Given the description of an element on the screen output the (x, y) to click on. 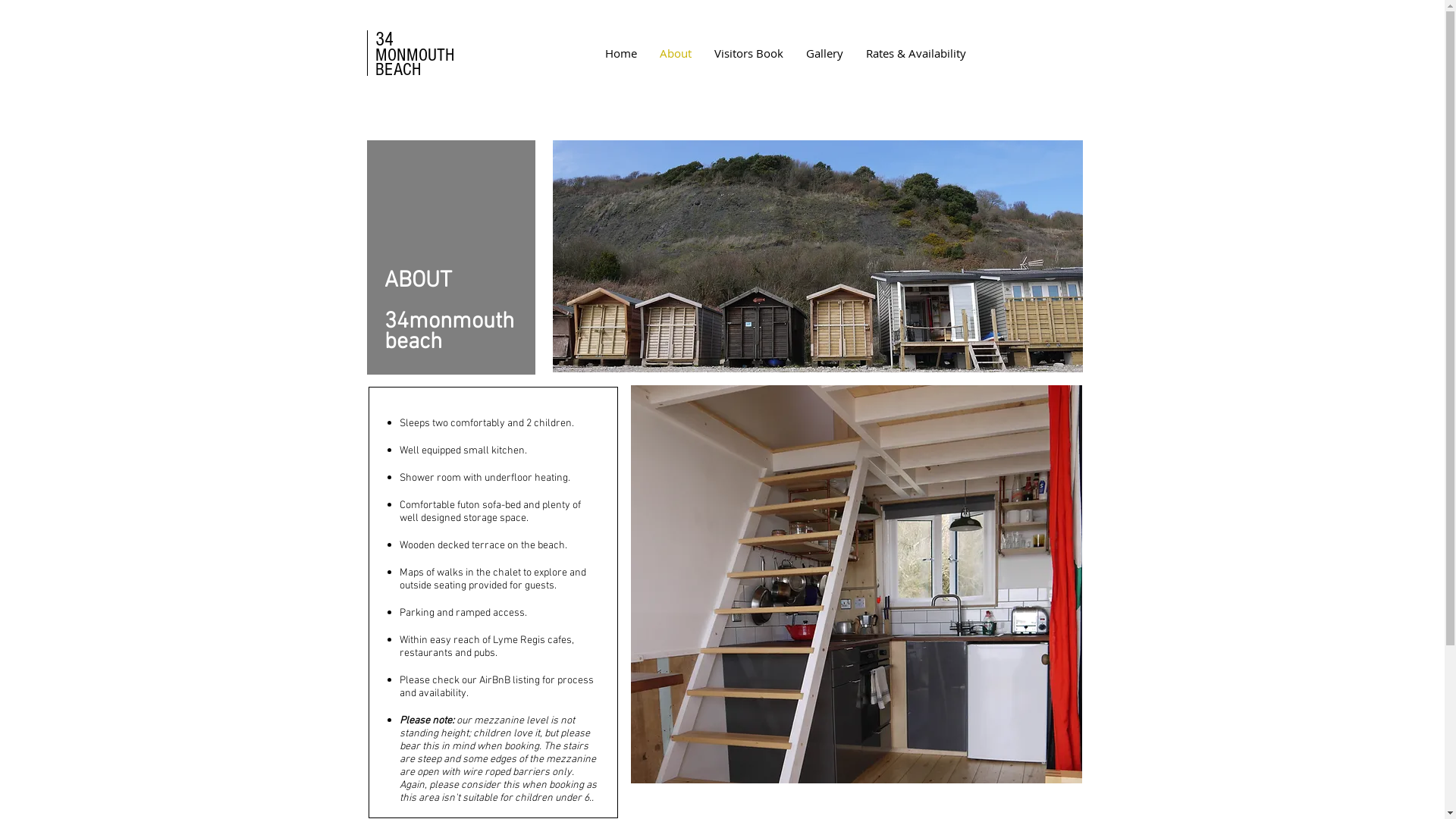
Visitors Book Element type: text (747, 52)
About Element type: text (674, 52)
Rates & Availability Element type: text (914, 52)
34 Element type: text (383, 39)
Chalet (8 of 55).jpg Element type: hover (856, 584)
Home Element type: text (620, 52)
Gallery Element type: text (824, 52)
Chalet (31 of 55).jpg Element type: hover (817, 256)
